Given the description of an element on the screen output the (x, y) to click on. 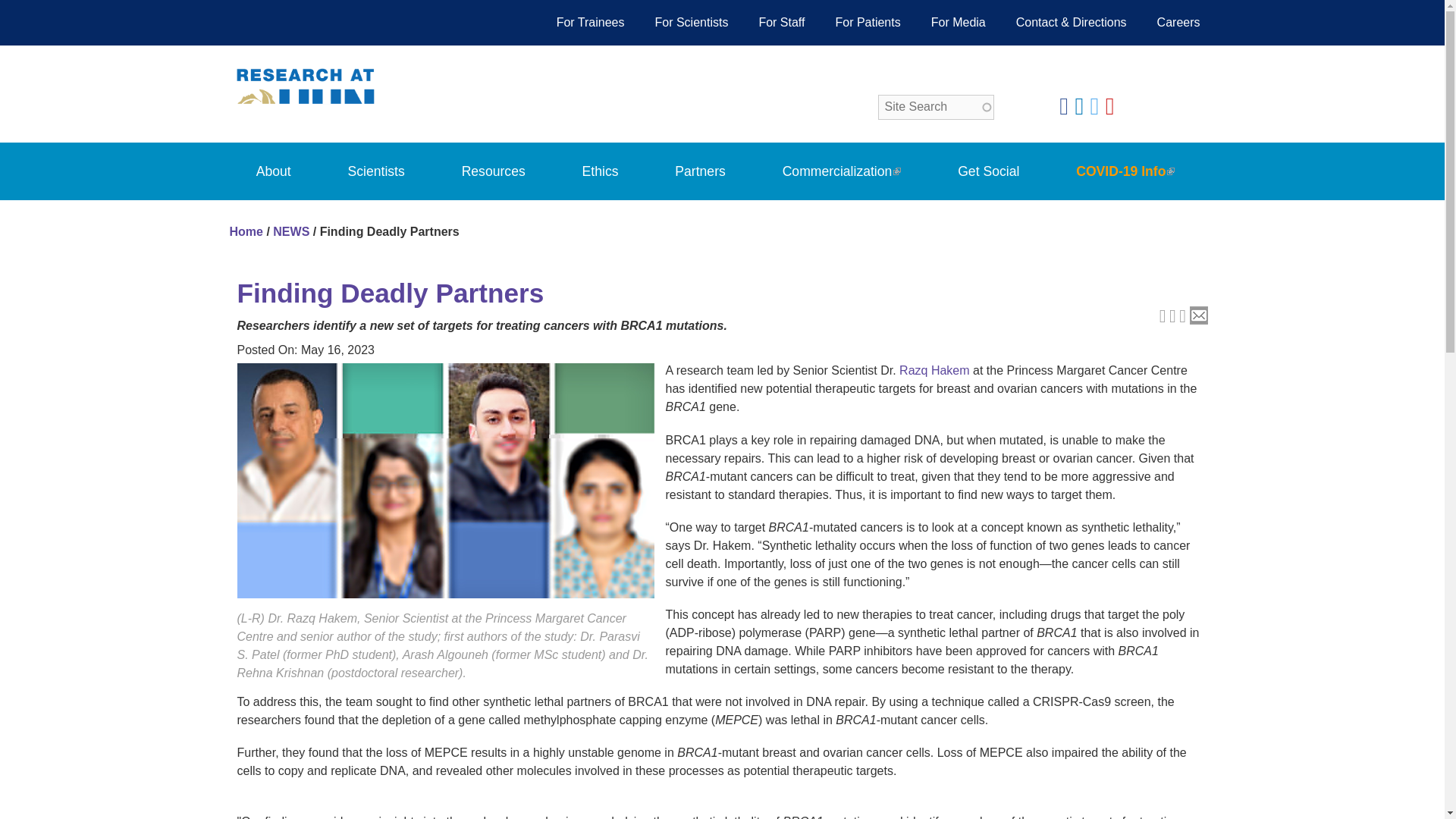
Email (1198, 318)
For Media (958, 22)
For Scientists (690, 22)
Enter the terms you wish to search for. (935, 107)
For Patients (867, 22)
For Staff (780, 22)
For Trainees (590, 22)
